Given the description of an element on the screen output the (x, y) to click on. 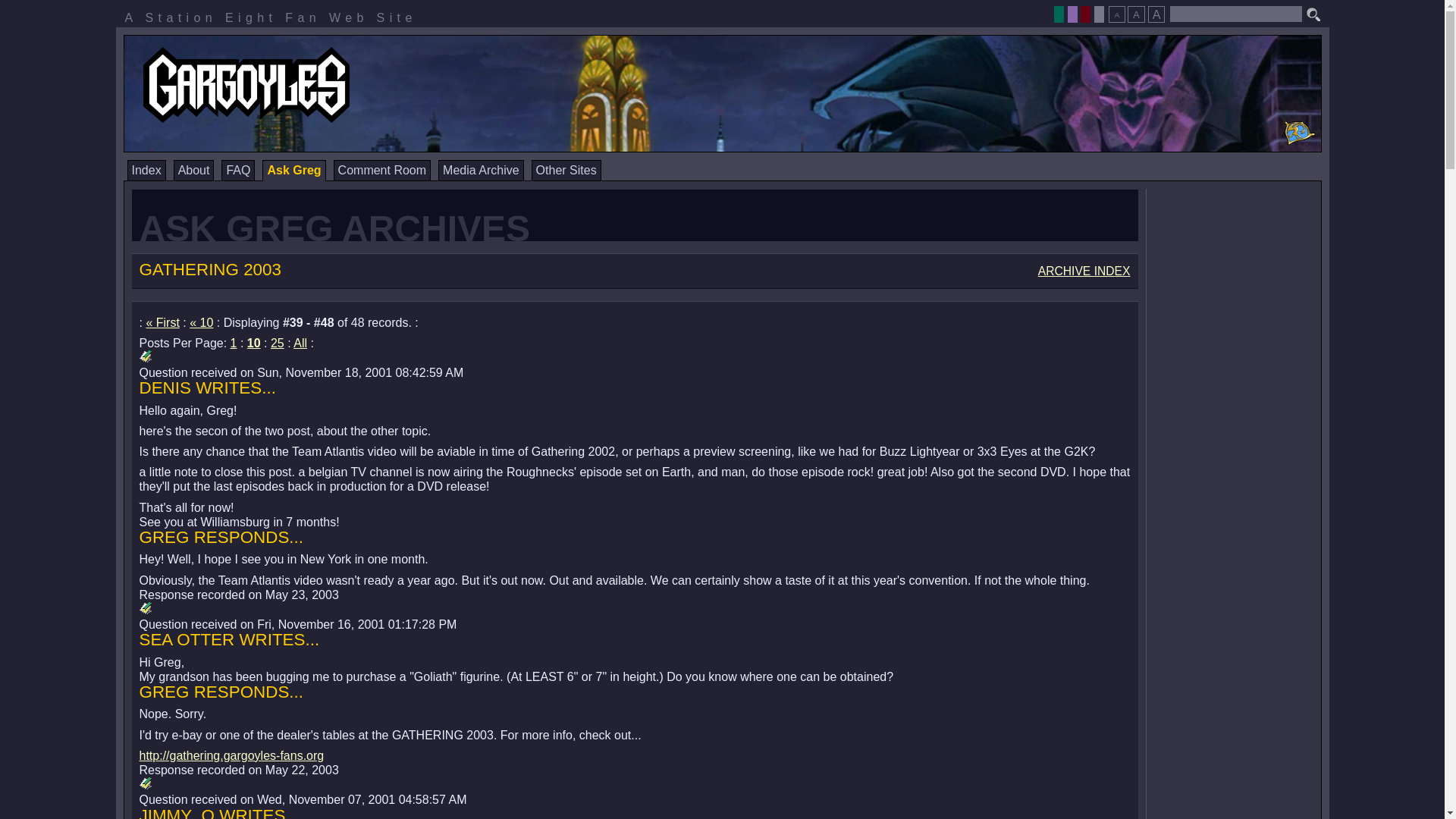
A (1135, 13)
Standard Font Size (1135, 13)
Small Font Size (1116, 13)
ARCHIVE INDEX (1084, 270)
Ask Greg (293, 169)
A (1116, 13)
Comment Room (381, 169)
Media Archive (481, 169)
About (193, 169)
FAQ (237, 169)
A (1156, 13)
All (300, 342)
Other Sites (566, 169)
25 (276, 342)
Large Font Size (1156, 13)
